Given the description of an element on the screen output the (x, y) to click on. 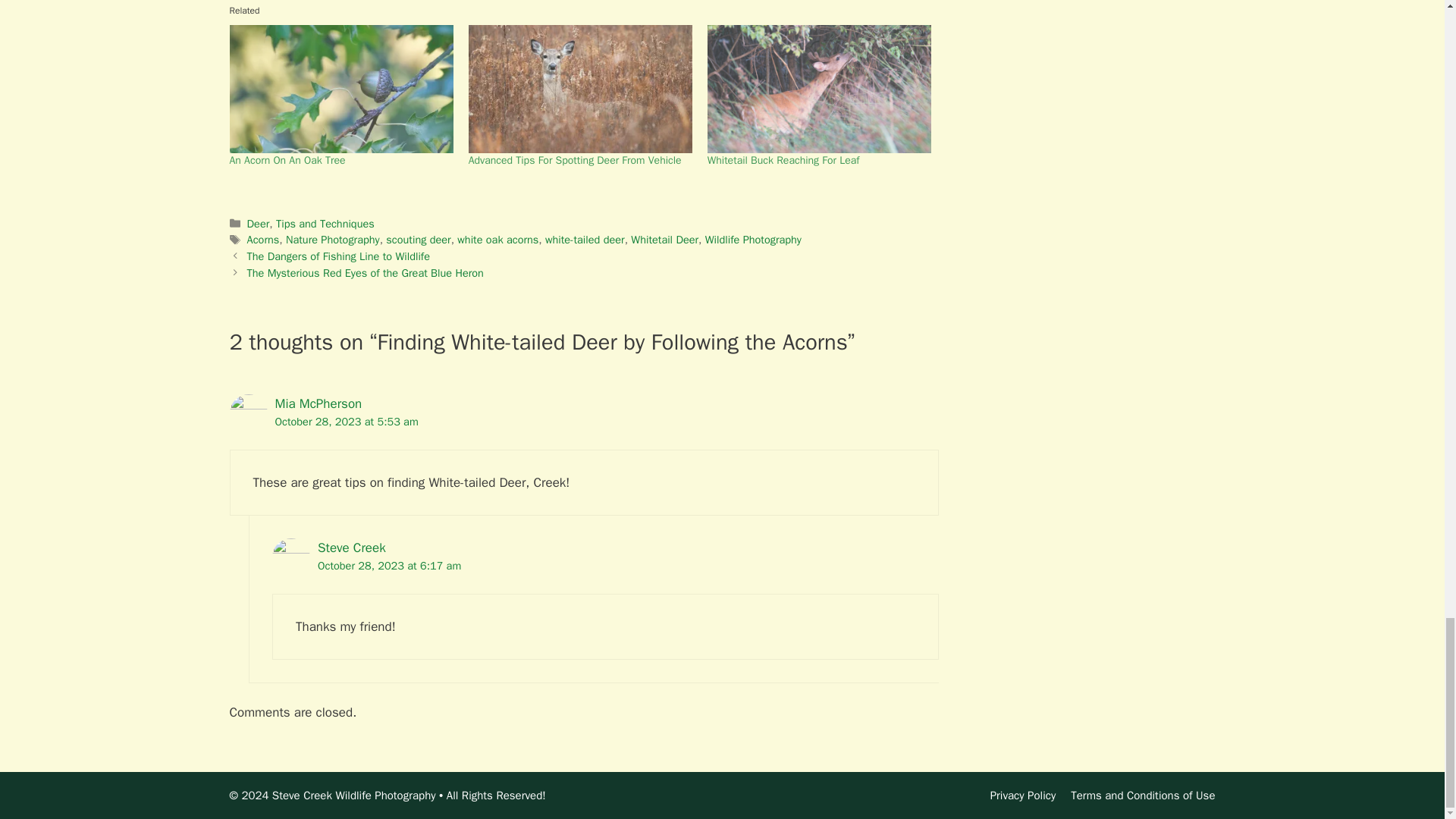
white oak acorns (497, 239)
Whitetail Buck Reaching For Leaf (783, 160)
Deer (258, 223)
Steve Creek (351, 547)
Wildlife Photography (753, 239)
October 28, 2023 at 6:17 am (389, 565)
Whitetail Deer (664, 239)
The Mysterious Red Eyes of the Great Blue Heron (365, 273)
The Dangers of Fishing Line to Wildlife (338, 255)
An Acorn On An Oak Tree (286, 160)
scouting deer (417, 239)
Advanced Tips For Spotting Deer From Vehicle (574, 160)
Acorns (263, 239)
Mia McPherson (318, 403)
Nature Photography (332, 239)
